Given the description of an element on the screen output the (x, y) to click on. 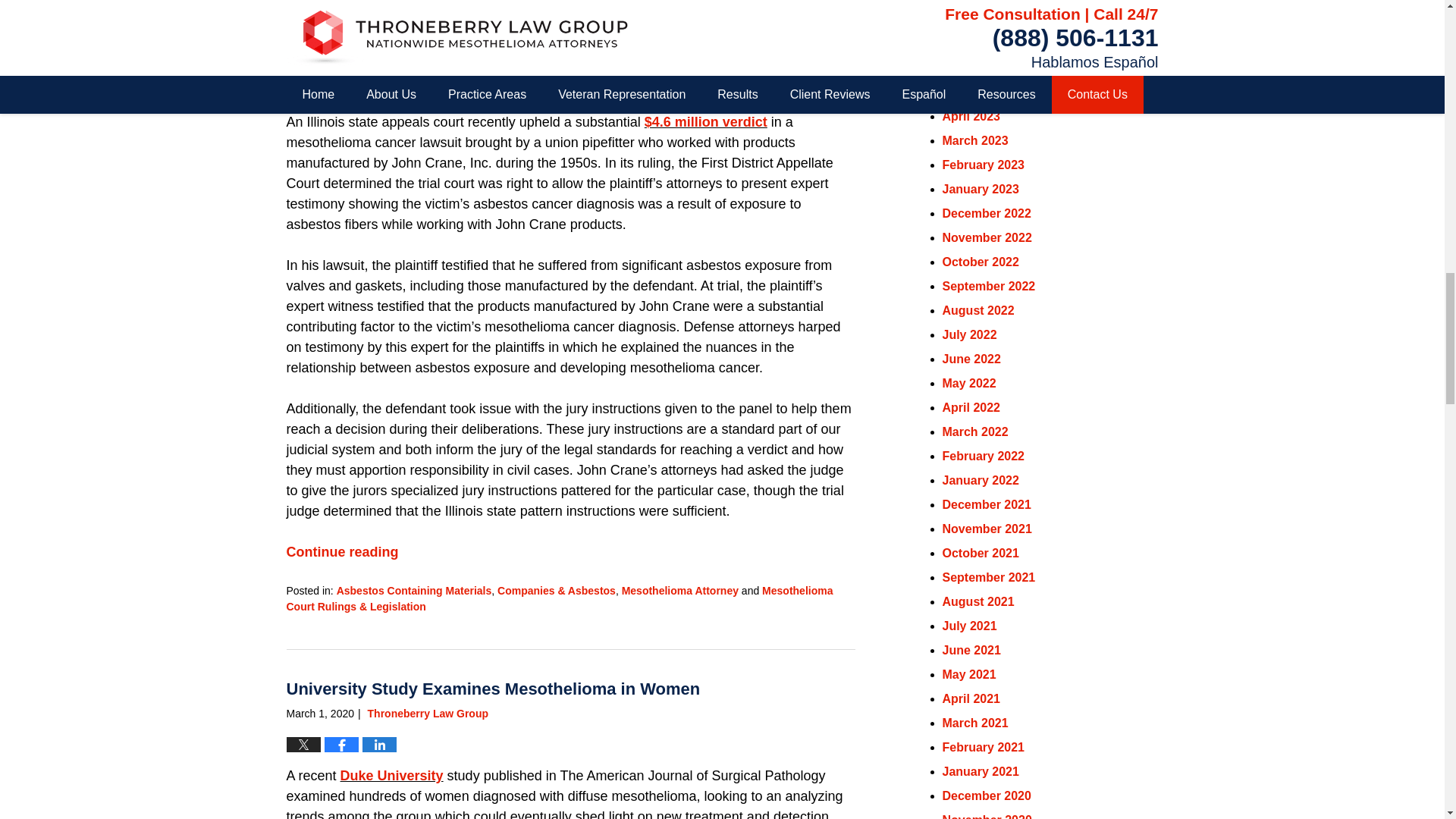
View all posts in Asbestos Containing Materials (414, 590)
View all posts in Mesothelioma Attorney (679, 590)
